Given the description of an element on the screen output the (x, y) to click on. 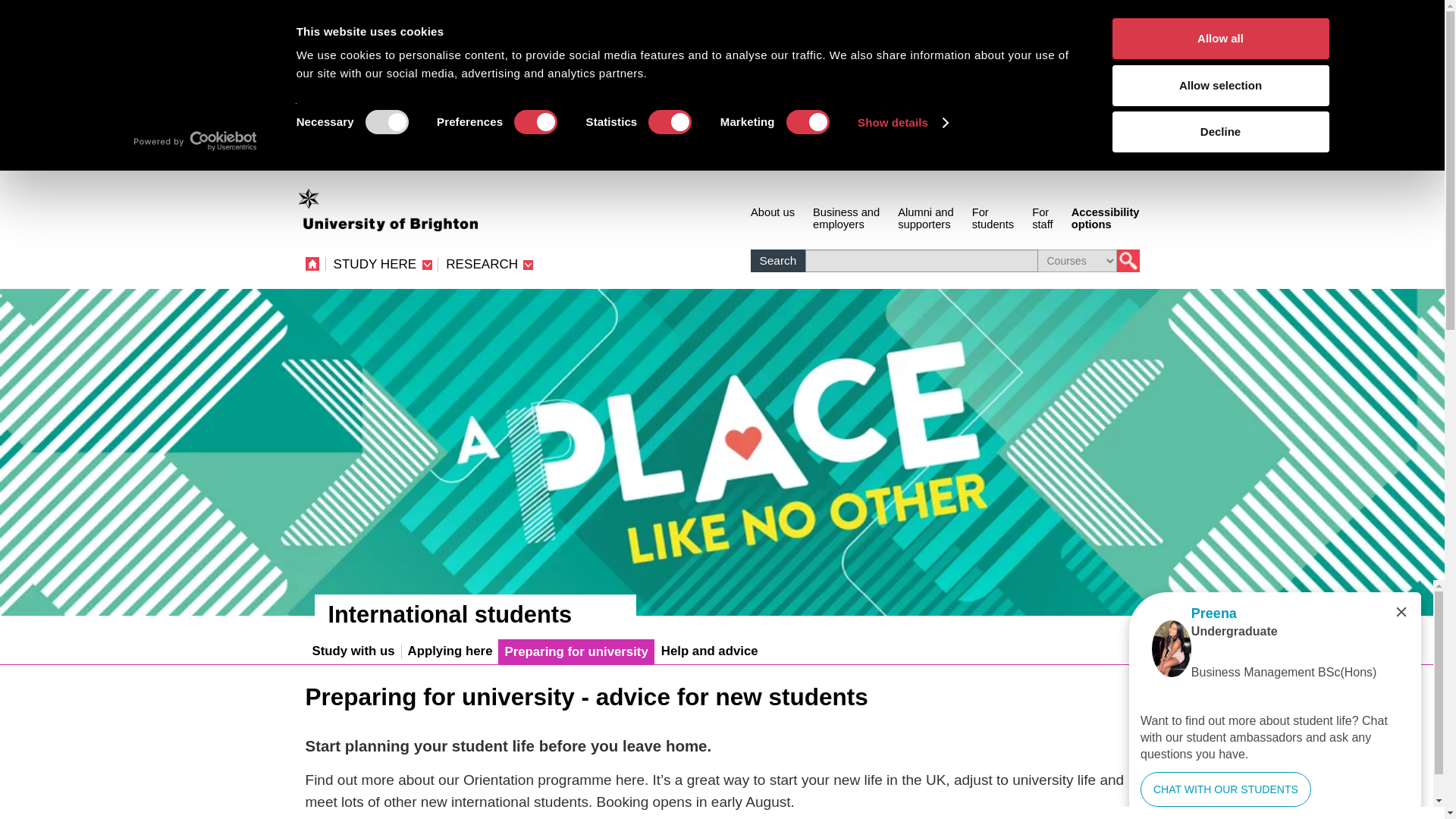
Show details (902, 122)
